Given the description of an element on the screen output the (x, y) to click on. 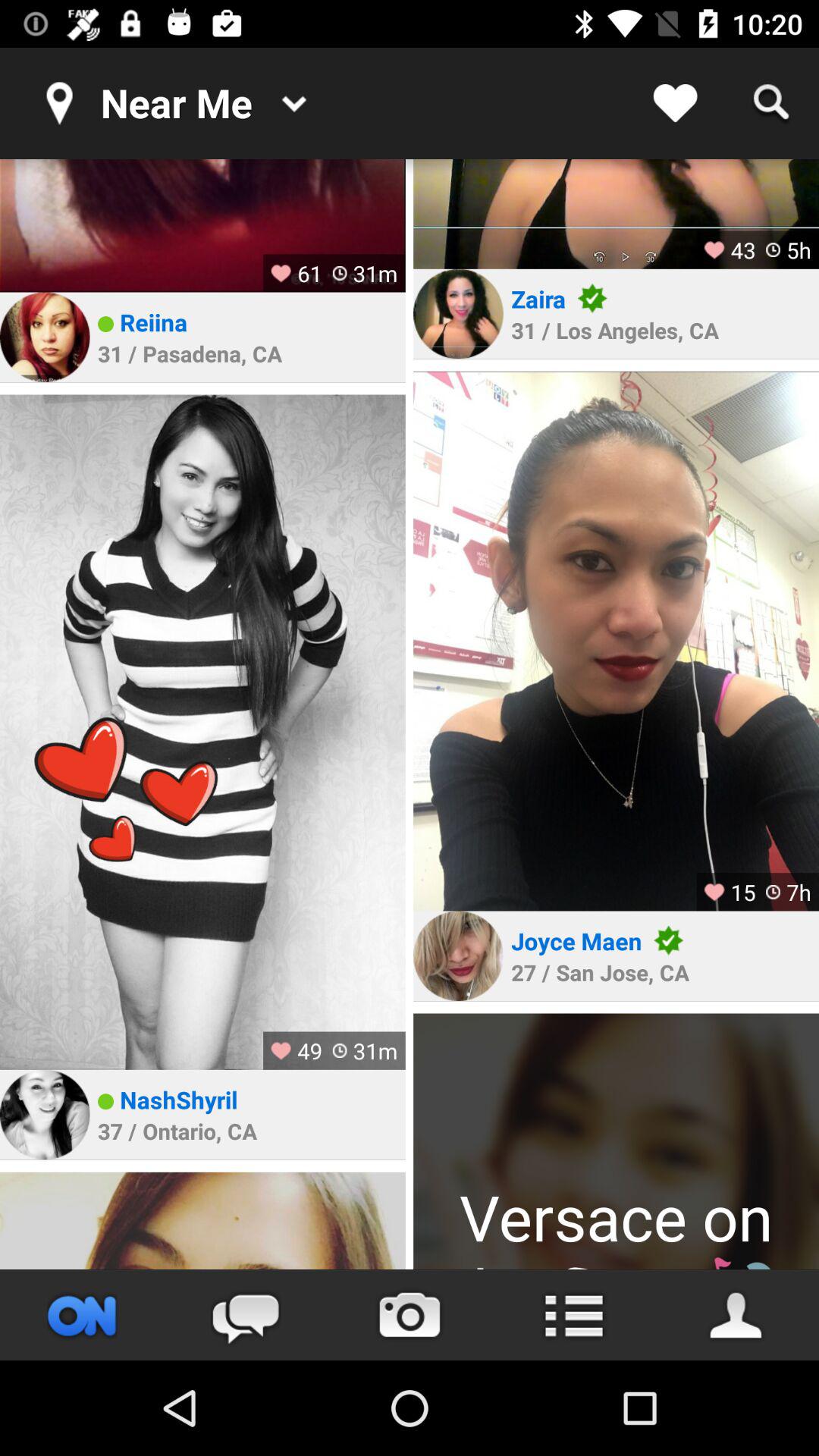
jump until joyce maen (576, 940)
